Given the description of an element on the screen output the (x, y) to click on. 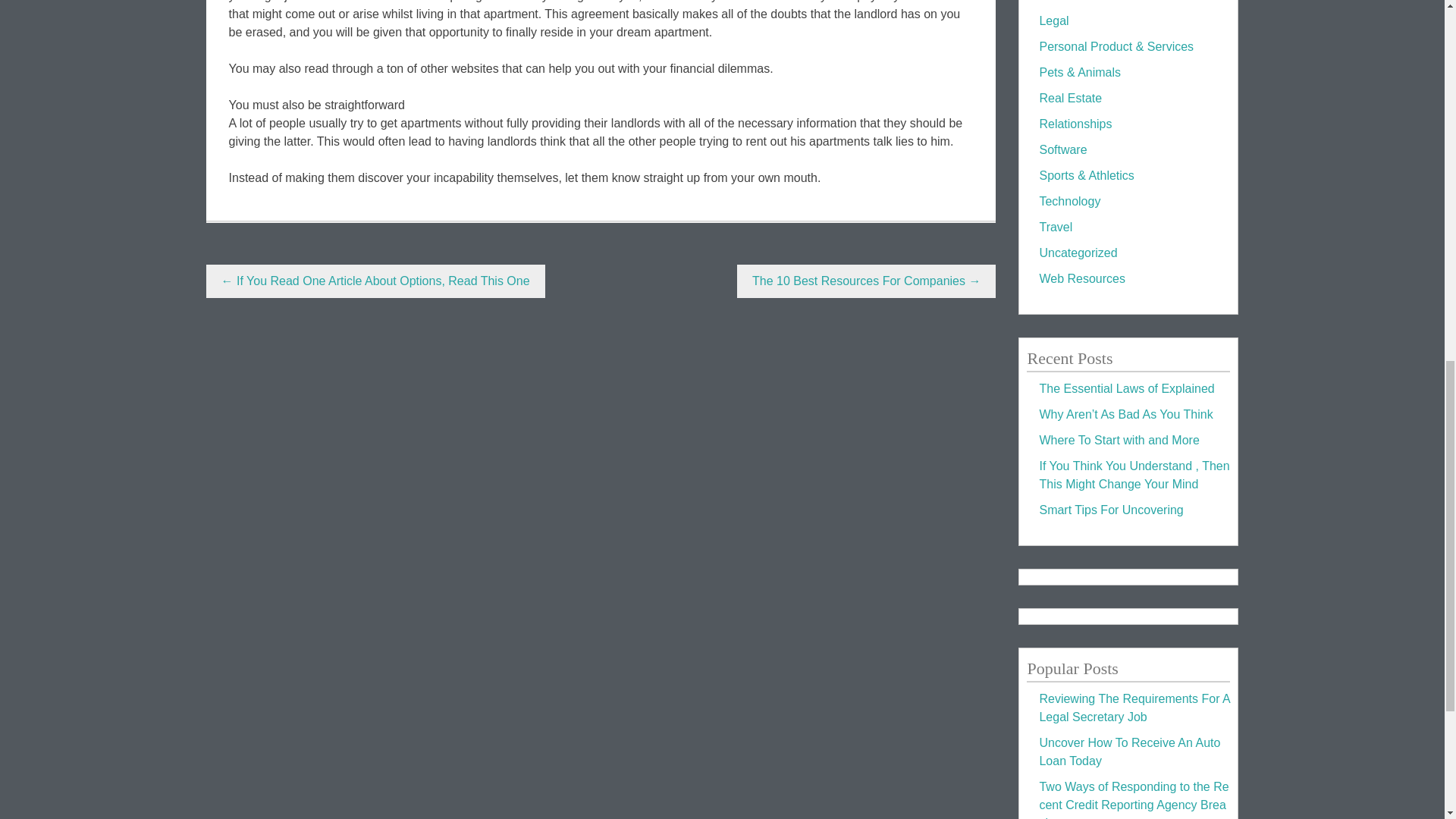
Software (1062, 149)
Travel (1055, 226)
Reviewing The Requirements For A Legal Secretary Job (1133, 707)
Uncover How To Receive An Auto Loan Today (1129, 751)
Uncategorized (1077, 252)
Real Estate (1070, 97)
Technology (1069, 201)
Internet Services (1084, 0)
Legal (1053, 20)
Web Resources (1082, 278)
Relationships (1075, 123)
